Given the description of an element on the screen output the (x, y) to click on. 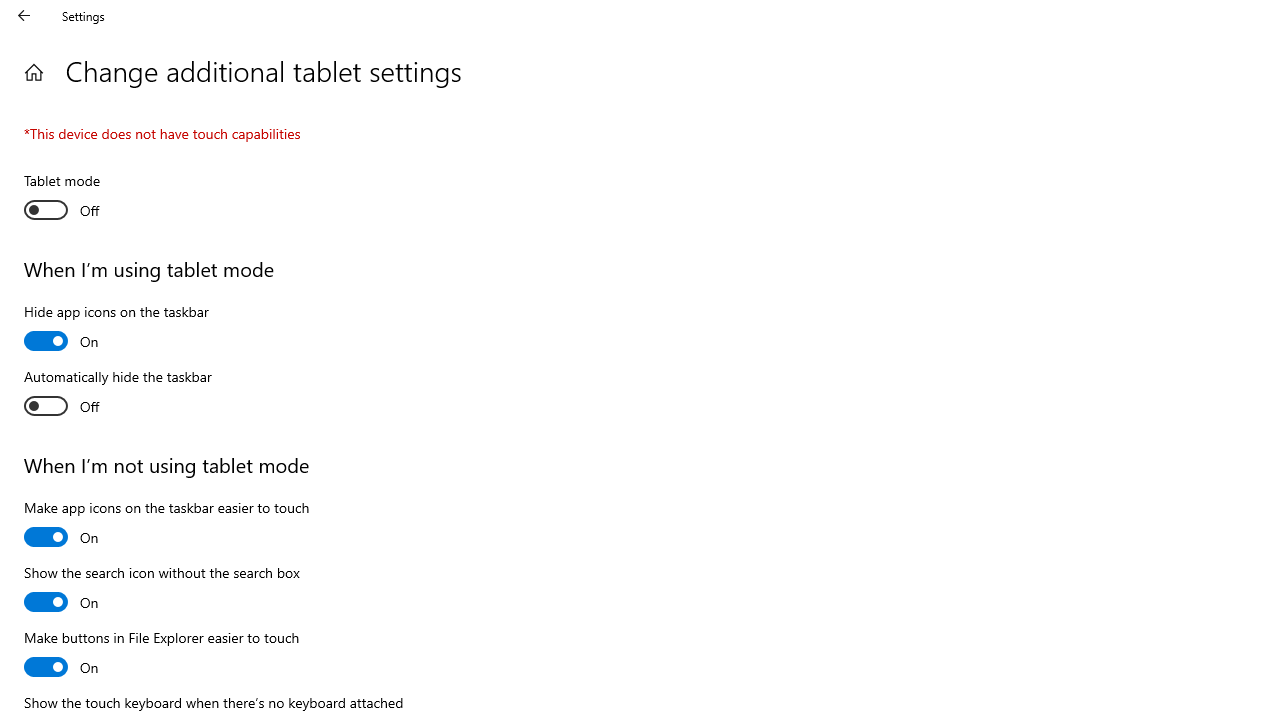
Make buttons in File Explorer easier to touch (161, 655)
Back (24, 15)
Automatically hide the taskbar (118, 394)
Home (33, 71)
Make app icons on the taskbar easier to touch (166, 525)
Hide app icons on the taskbar (116, 329)
Show the search icon without the search box (161, 590)
Tablet mode (97, 198)
